Given the description of an element on the screen output the (x, y) to click on. 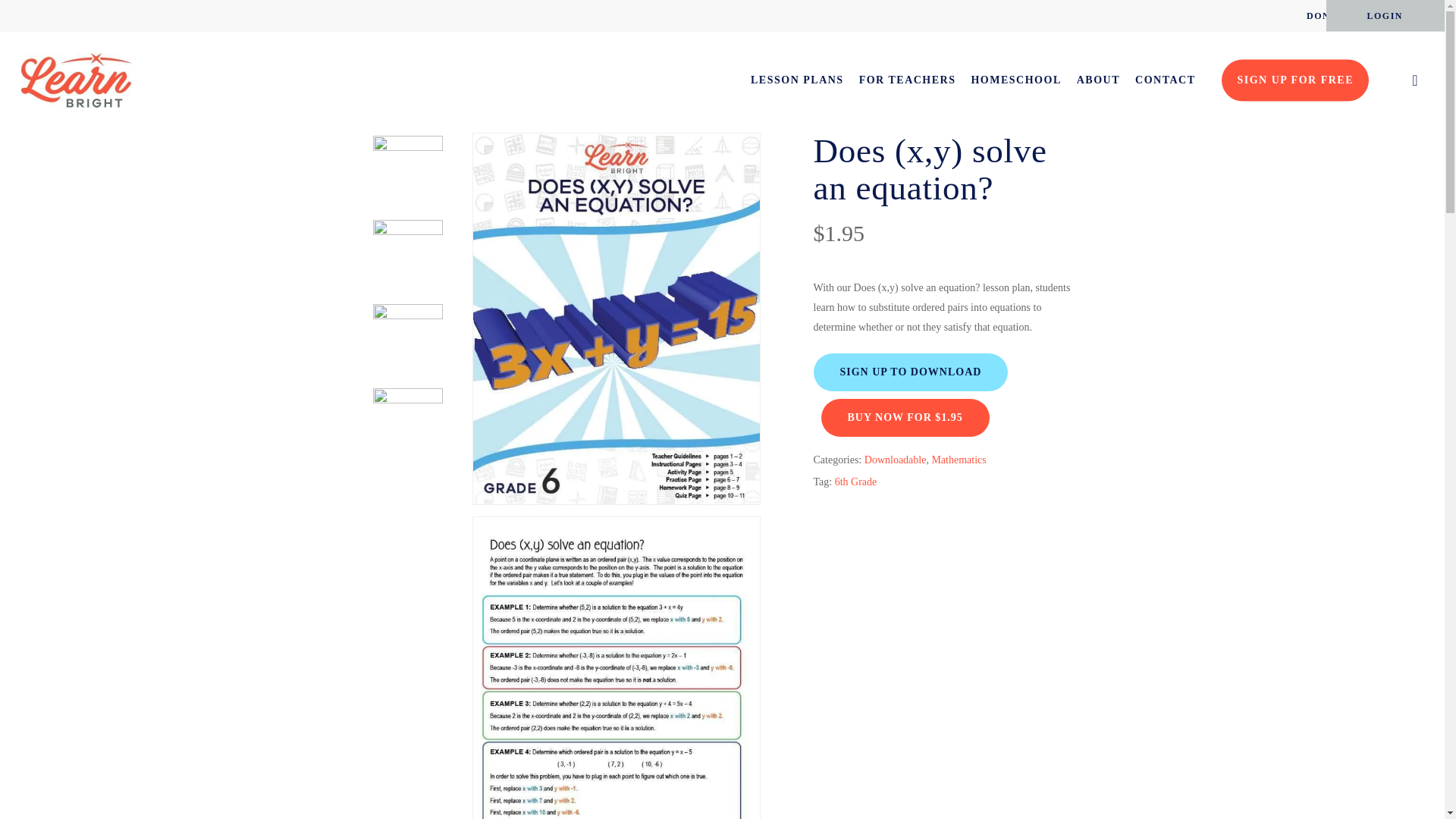
LESSON PLANS (797, 79)
CONTACT (1165, 79)
LOGIN (1385, 15)
ABOUT (1098, 79)
Mathematics (512, 110)
FOR TEACHERS (907, 79)
SIGN UP FOR FREE (1294, 79)
6th Grade (855, 481)
DONATE (1328, 15)
Home (384, 110)
